Given the description of an element on the screen output the (x, y) to click on. 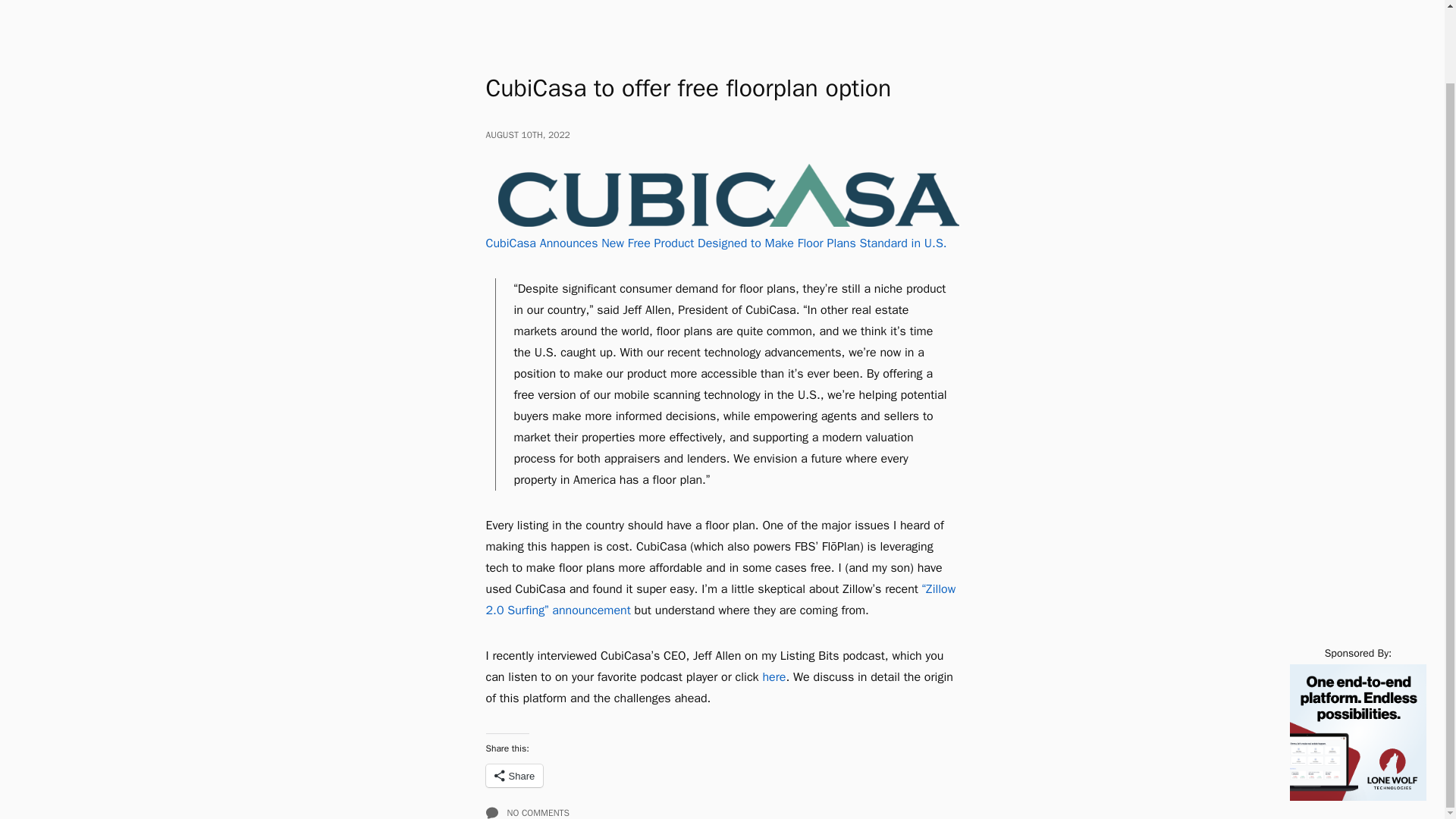
Share (513, 775)
here (773, 676)
